Given the description of an element on the screen output the (x, y) to click on. 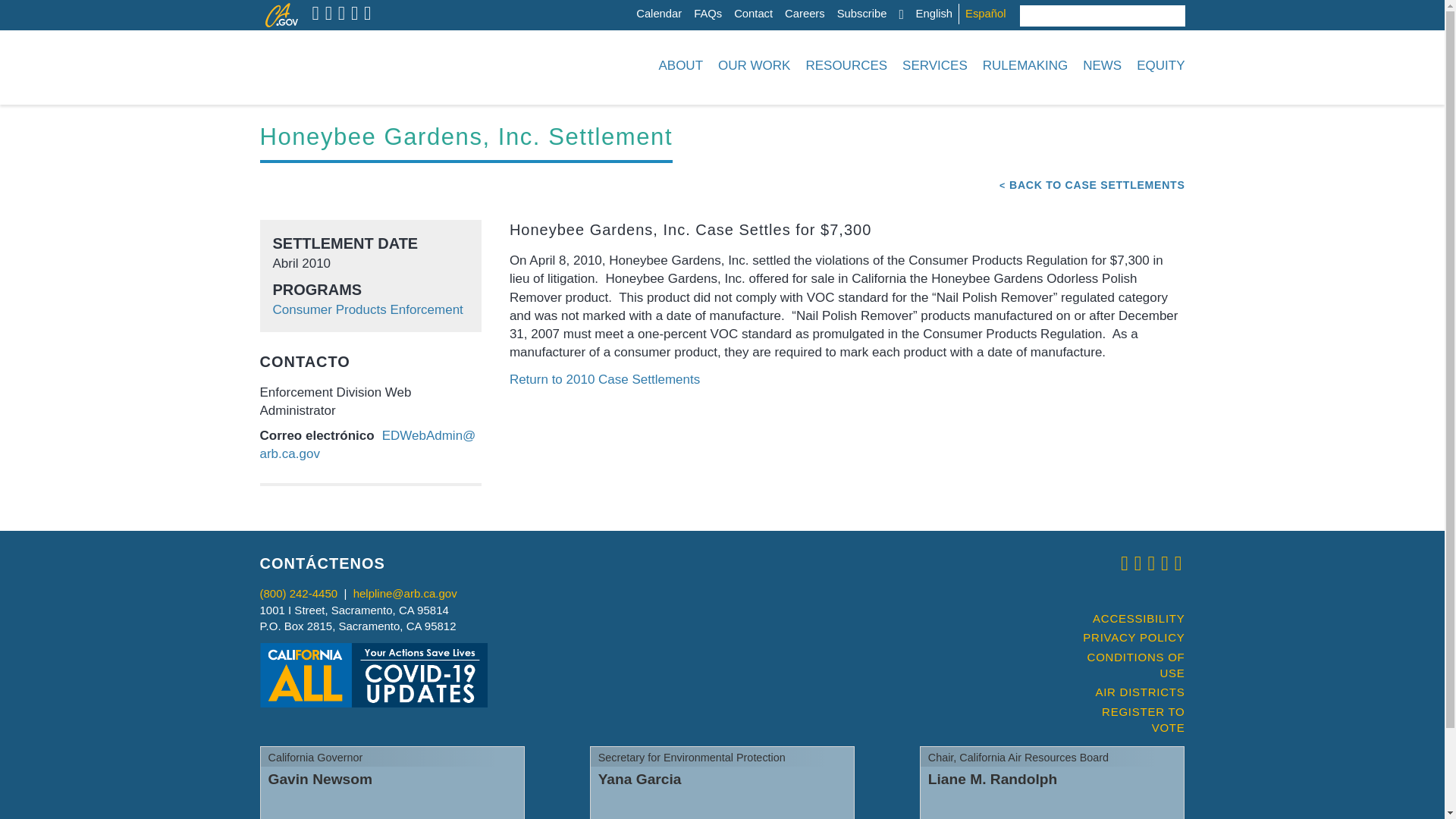
Careers (804, 14)
California online voter registration (1127, 719)
RESOURCES (846, 65)
FAQs (708, 14)
Inicio (353, 65)
Subscribe (861, 14)
English (933, 14)
ABOUT (680, 65)
EQUITY (1157, 65)
